Given the description of an element on the screen output the (x, y) to click on. 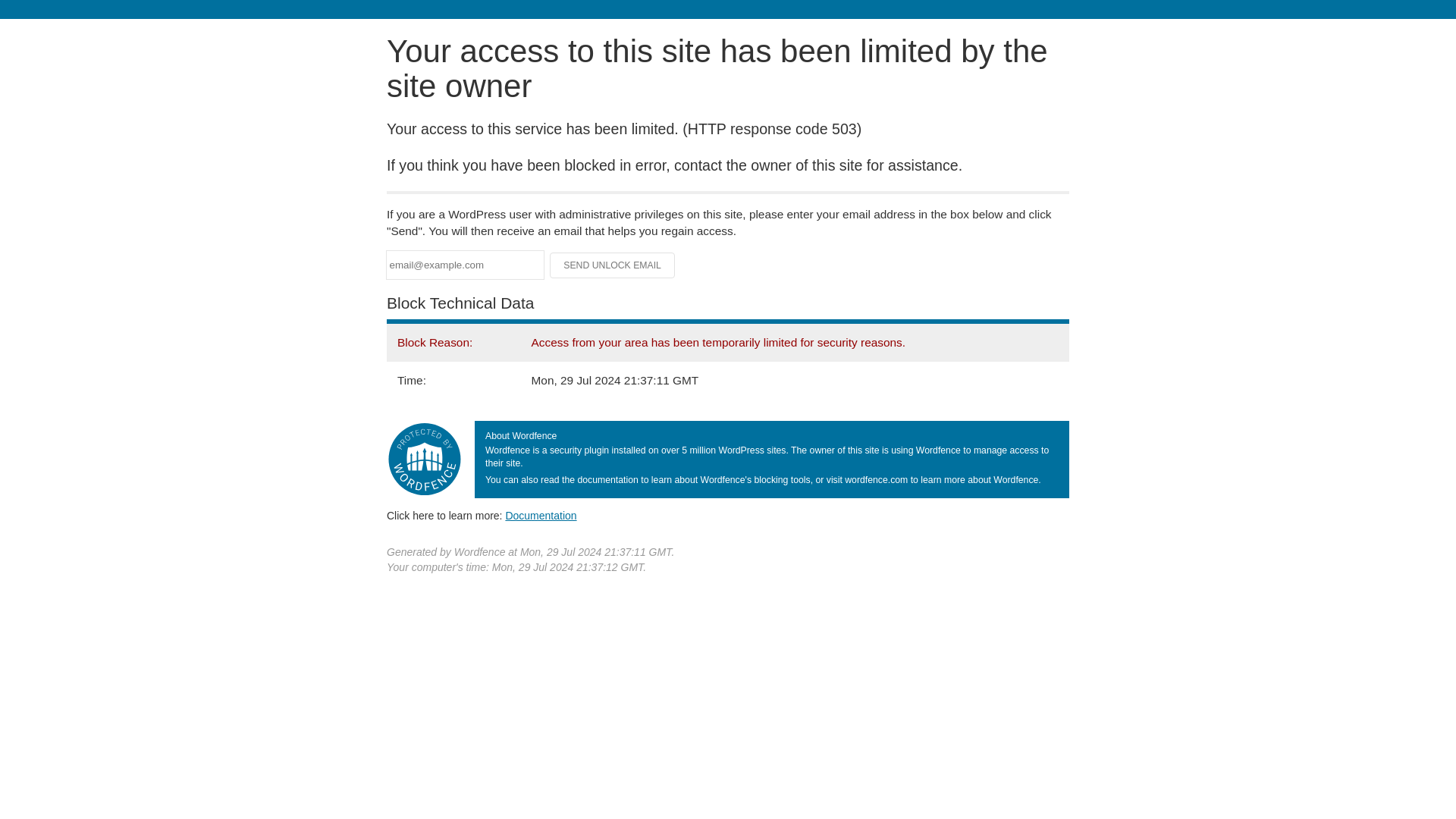
Send Unlock Email (612, 265)
Documentation (540, 515)
Send Unlock Email (612, 265)
